Given the description of an element on the screen output the (x, y) to click on. 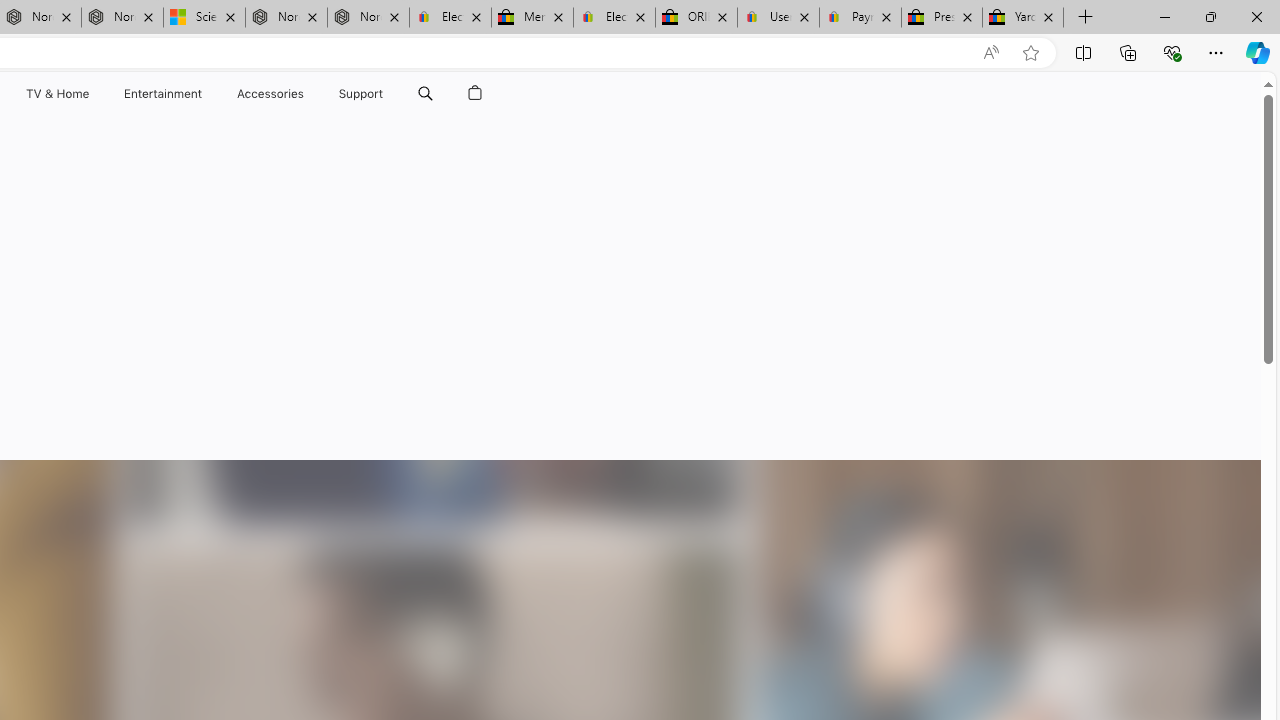
Support (361, 93)
Yard, Garden & Outdoor Living (1023, 17)
Nordace - FAQ (368, 17)
Search Support (425, 93)
Nordace - Summer Adventures 2024 (285, 17)
Shopping Bag (475, 93)
Accessories menu (306, 93)
